Given the description of an element on the screen output the (x, y) to click on. 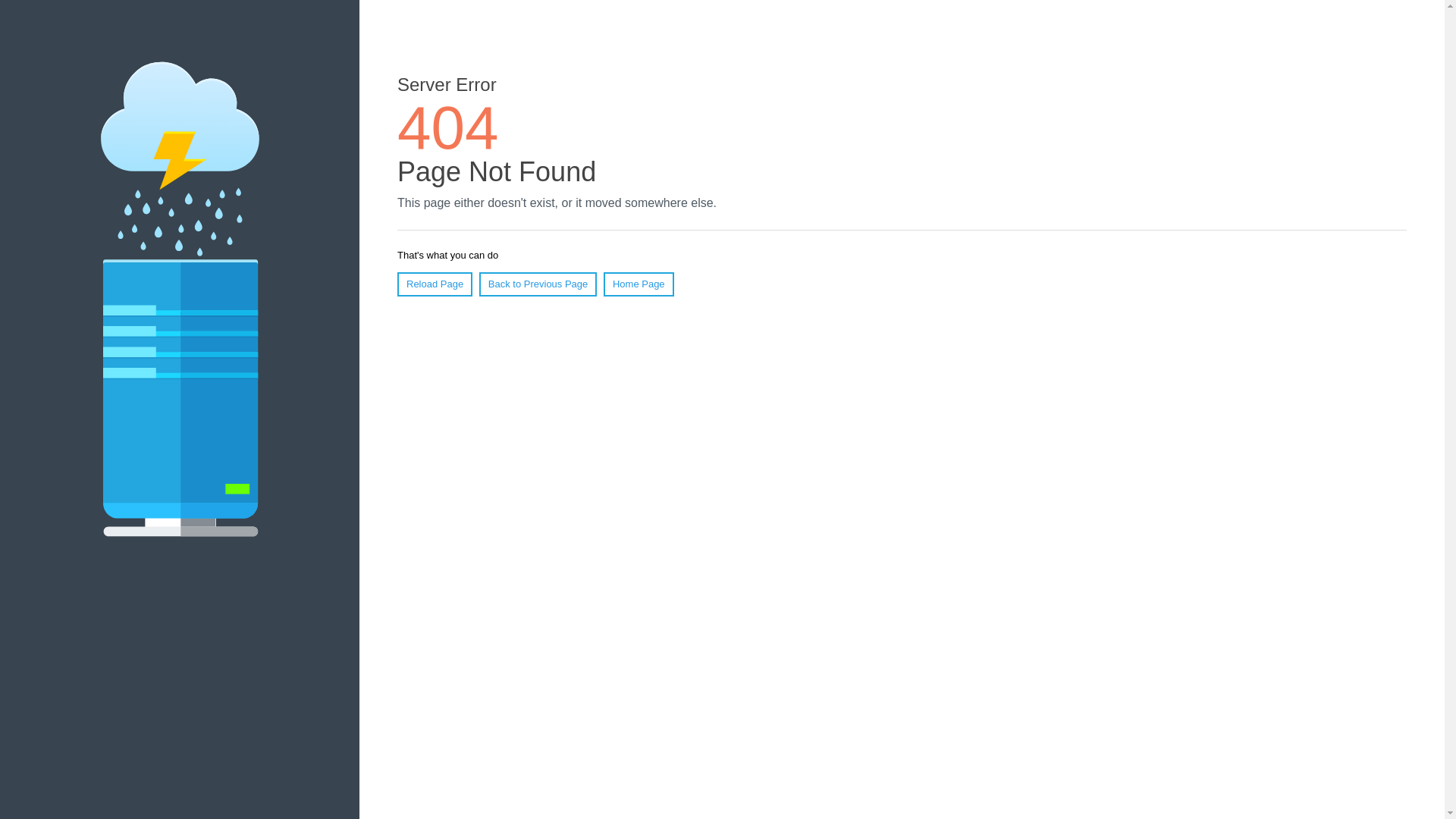
Back to Previous Page Element type: text (538, 284)
Home Page Element type: text (638, 284)
Reload Page Element type: text (434, 284)
